Given the description of an element on the screen output the (x, y) to click on. 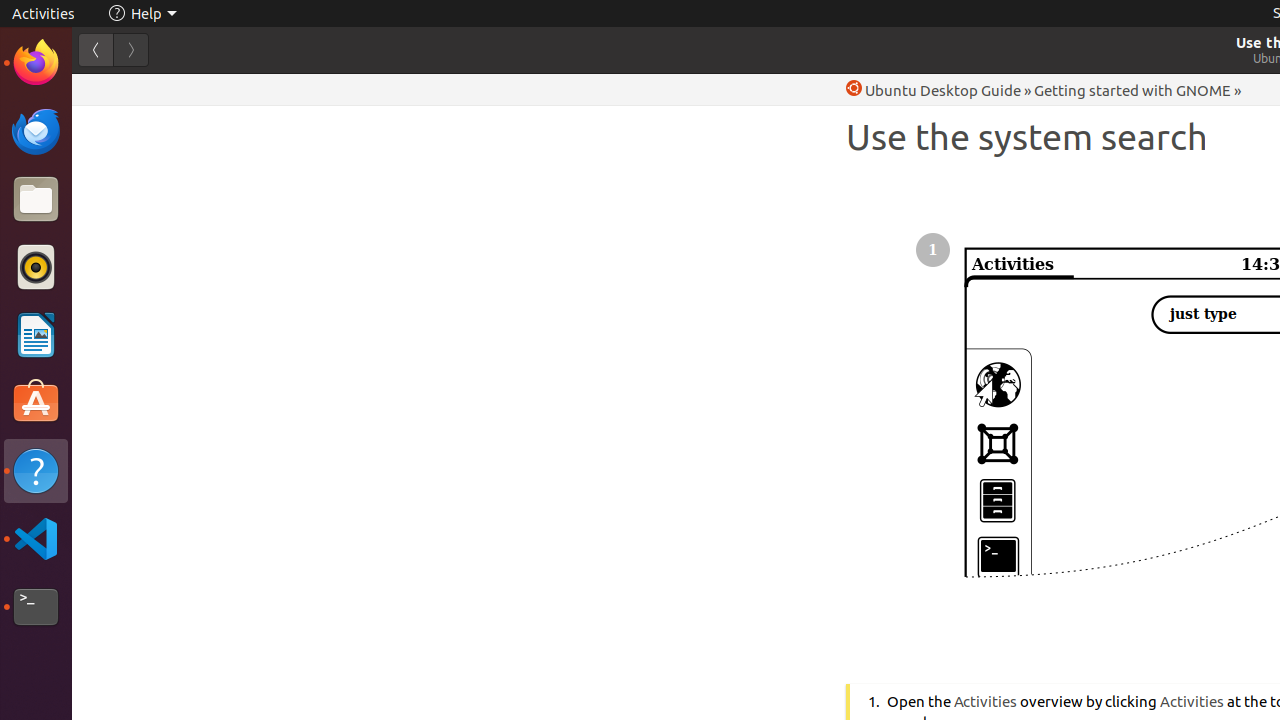
Activities Element type: label (43, 13)
li.txt Element type: label (259, 89)
